Given the description of an element on the screen output the (x, y) to click on. 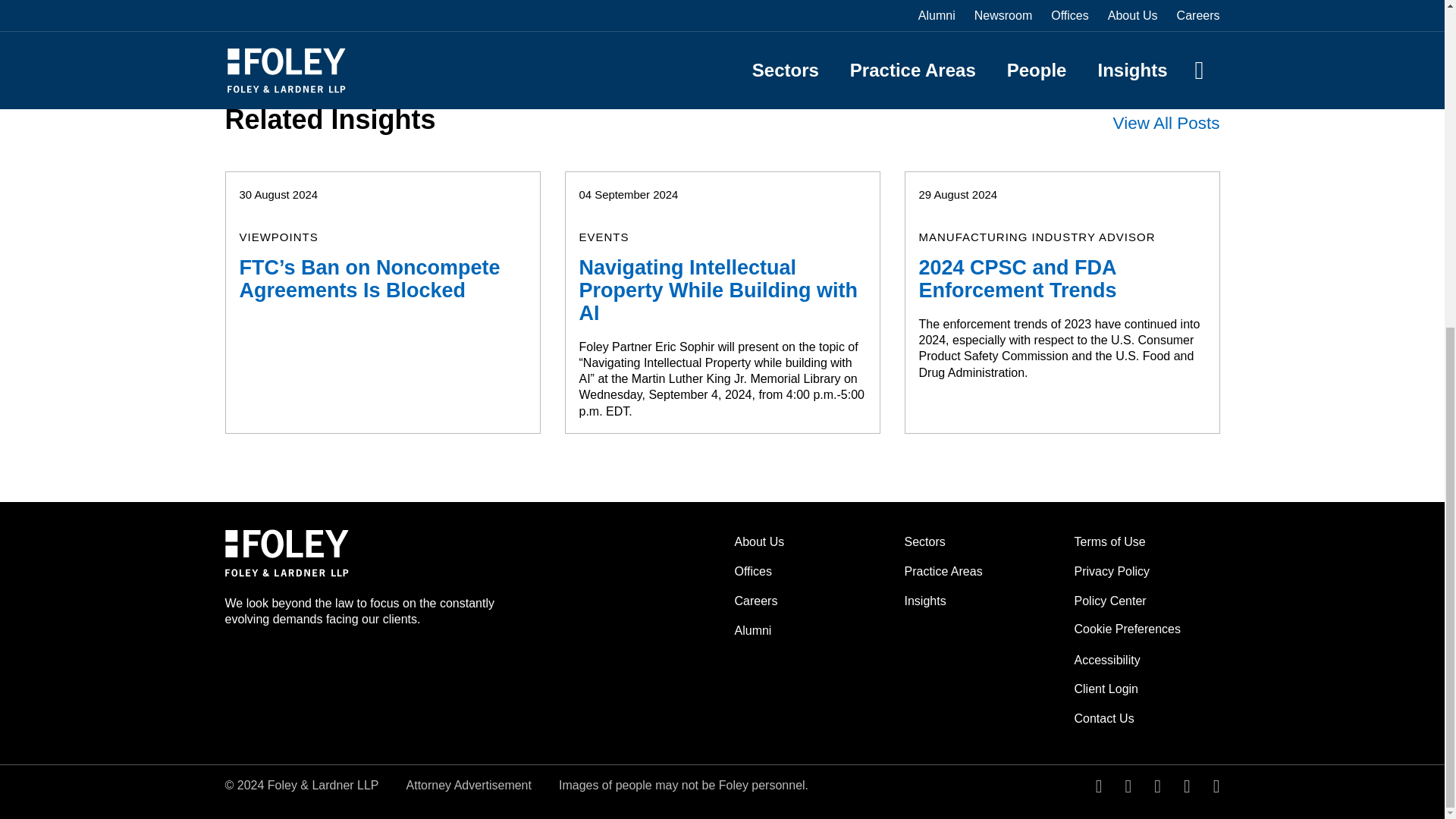
Offices (752, 571)
View All Posts (1166, 123)
About Us (758, 541)
